Given the description of an element on the screen output the (x, y) to click on. 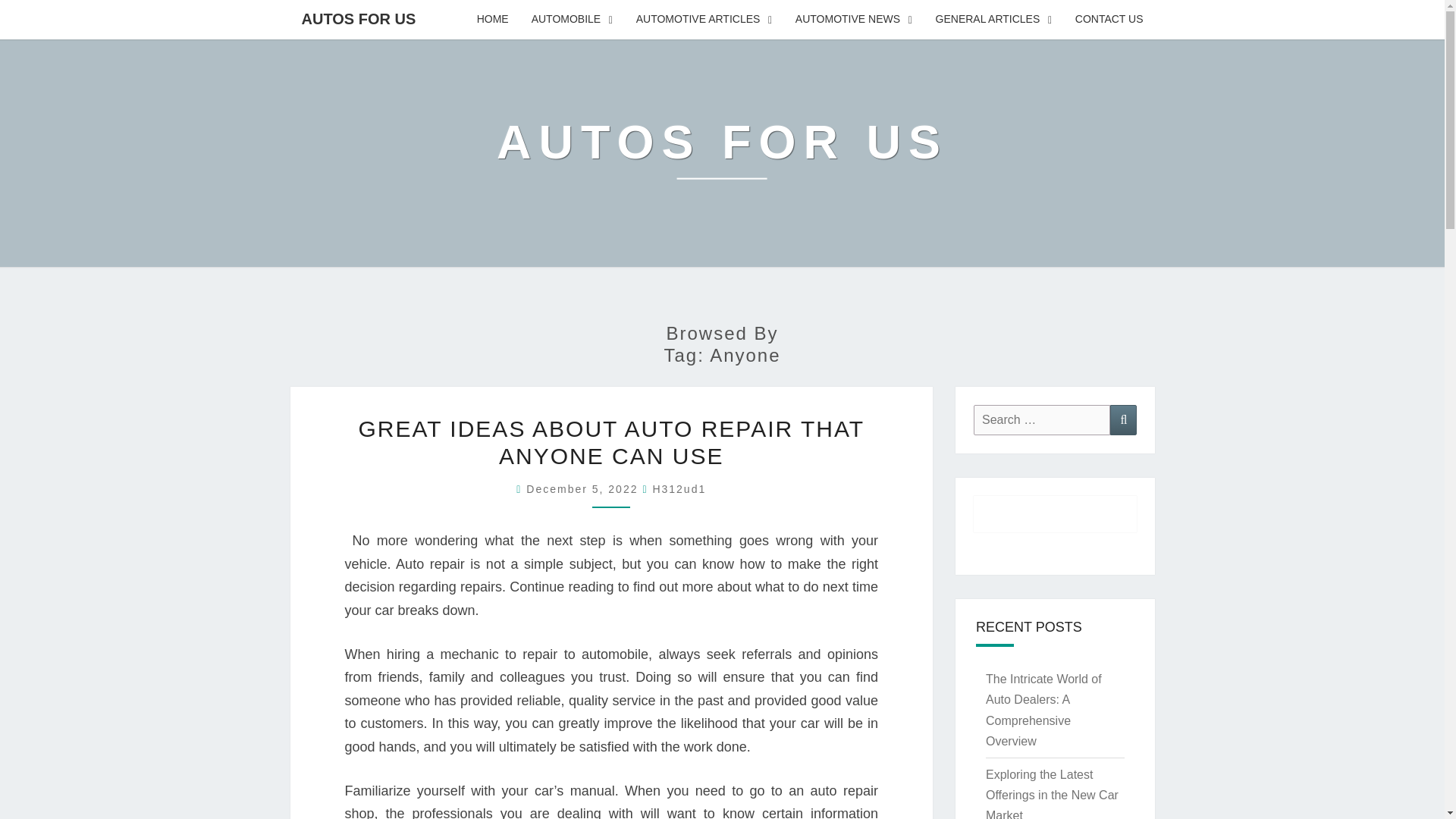
5:48 am (583, 489)
GENERAL ARTICLES (994, 19)
AUTOMOTIVE NEWS (854, 19)
AUTOMOBILE (571, 19)
Autos For Us (721, 152)
December 5, 2022 (583, 489)
Search (1123, 419)
GREAT IDEAS ABOUT AUTO REPAIR THAT ANYONE CAN USE (611, 442)
AUTOS FOR US (721, 152)
H312ud1 (679, 489)
